Given the description of an element on the screen output the (x, y) to click on. 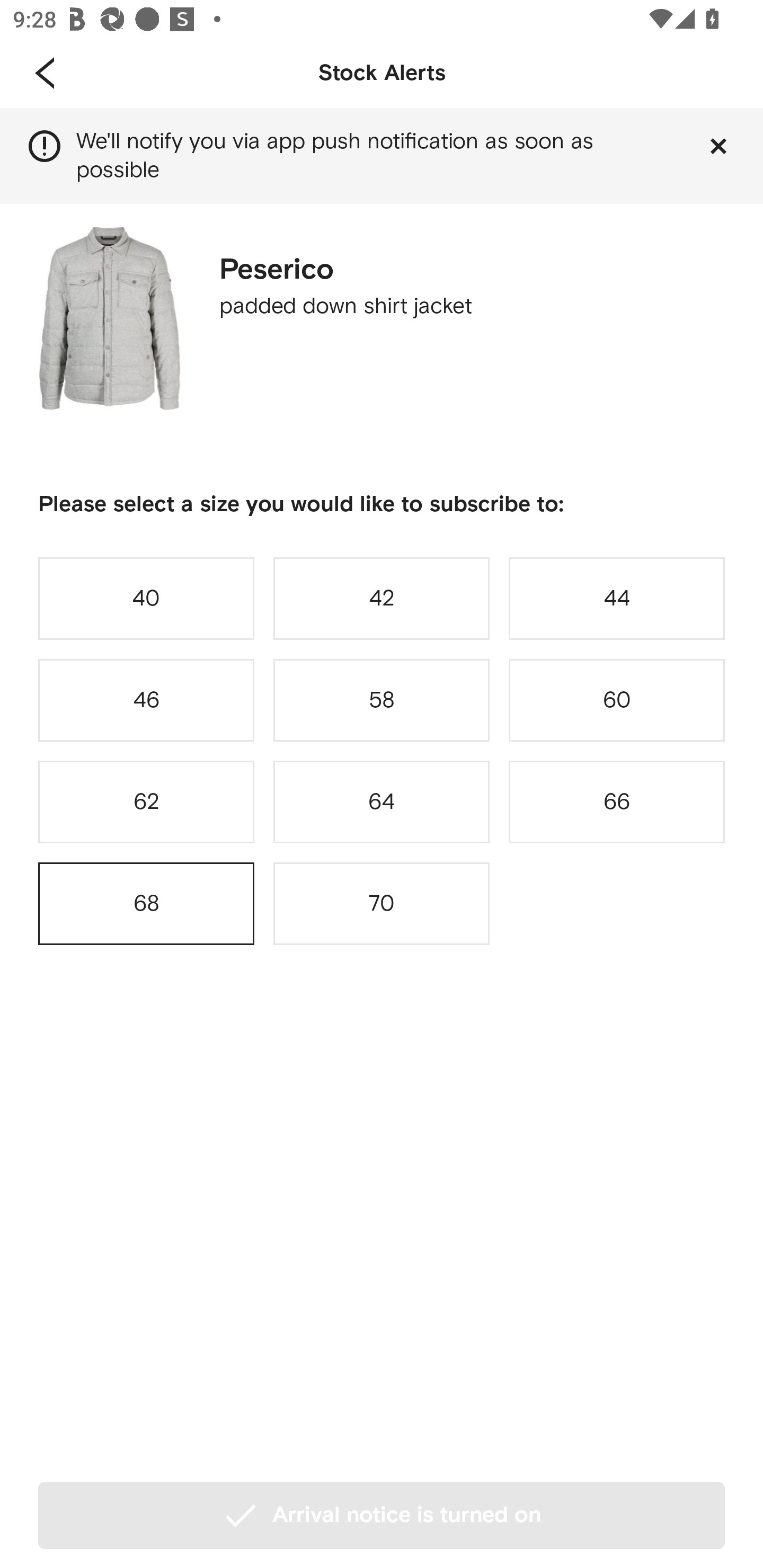
40 (146, 597)
42 (381, 597)
44 (616, 597)
46 (146, 699)
58 (381, 699)
60 (616, 699)
62 (146, 801)
64 (381, 801)
66 (616, 801)
68 (146, 903)
70 (381, 903)
Arrival notice is turned on (381, 1515)
